Given the description of an element on the screen output the (x, y) to click on. 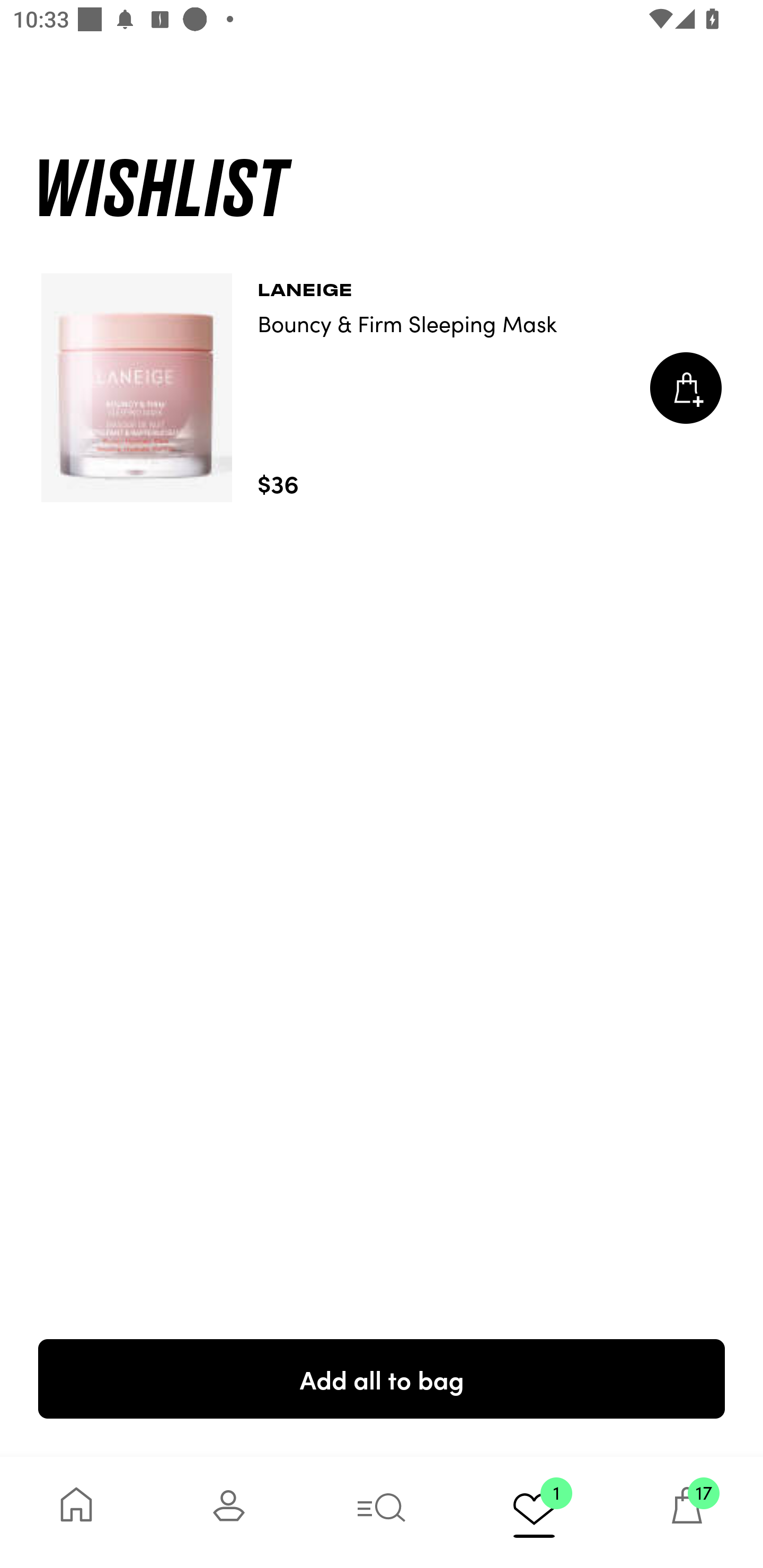
LANEIGE Bouncy & Firm Sleeping Mask $36 (381, 388)
Add all to bag (381, 1379)
1 (533, 1512)
17 (686, 1512)
